Given the description of an element on the screen output the (x, y) to click on. 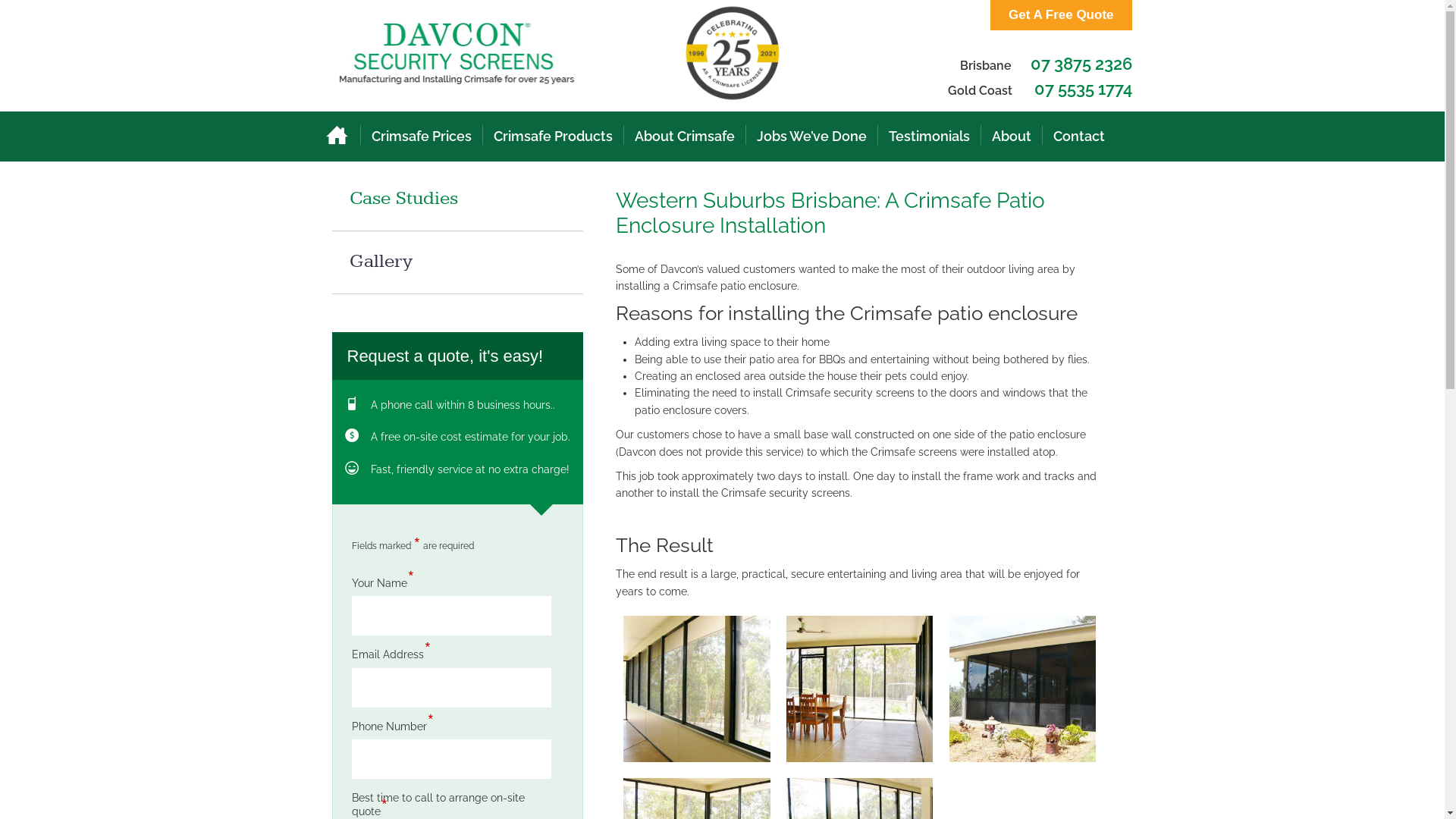
Case Studies Element type: text (457, 209)
About Crimsafe Element type: text (683, 136)
About Element type: text (1011, 136)
Gallery Element type: text (457, 262)
Contact Element type: text (1077, 136)
Get A Free Quote Element type: text (1061, 15)
Crimsafe Products Element type: text (552, 136)
07 3875 2326 Element type: text (1080, 63)
Crimsafe Prices Element type: text (421, 136)
Home Element type: text (335, 136)
Testimonials Element type: text (929, 136)
07 5535 1774 Element type: text (1083, 88)
